Given the description of an element on the screen output the (x, y) to click on. 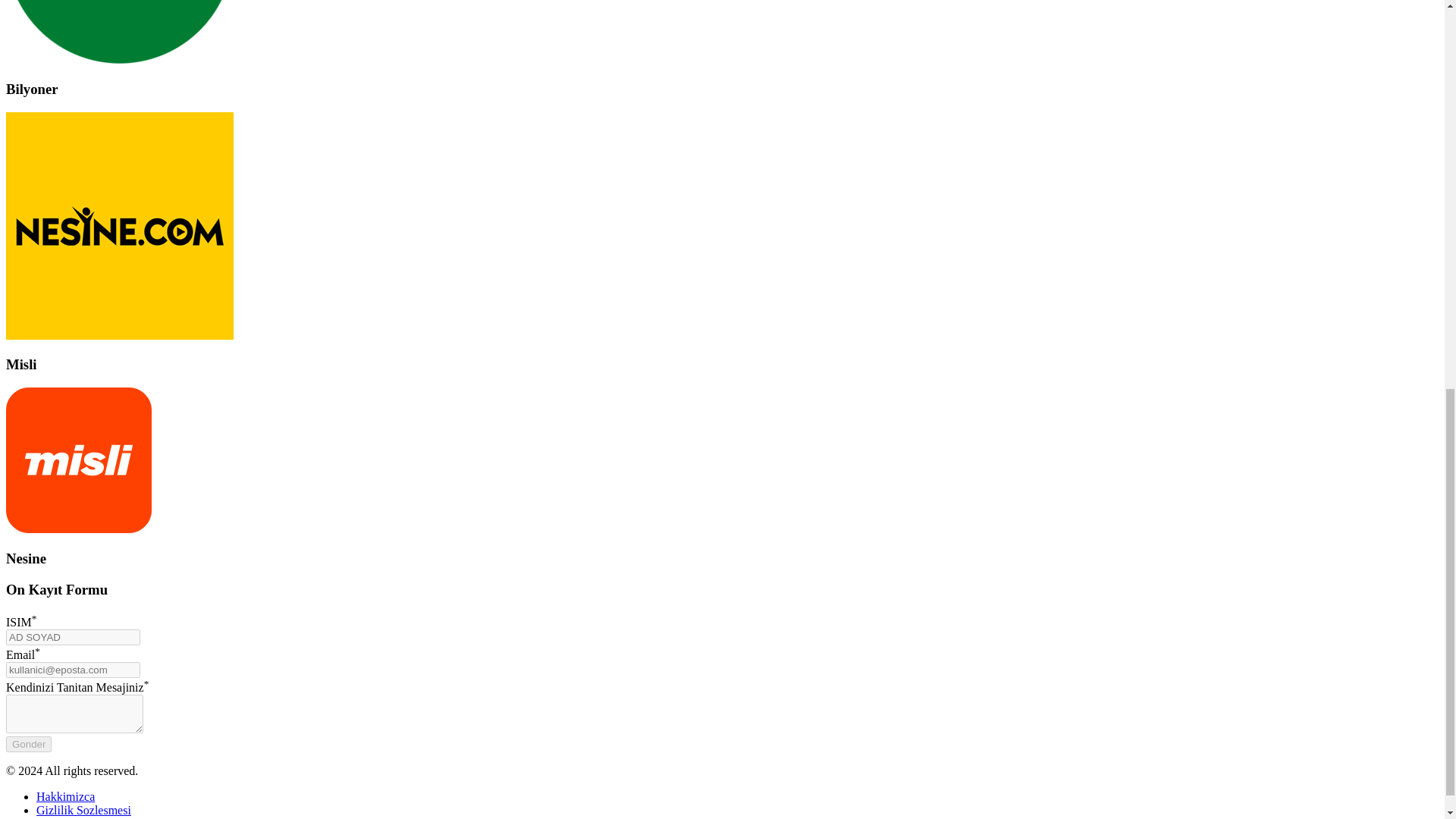
Hakkimizca (65, 796)
Gonder (27, 744)
Gizlilik Sozlesmesi (83, 809)
